Given the description of an element on the screen output the (x, y) to click on. 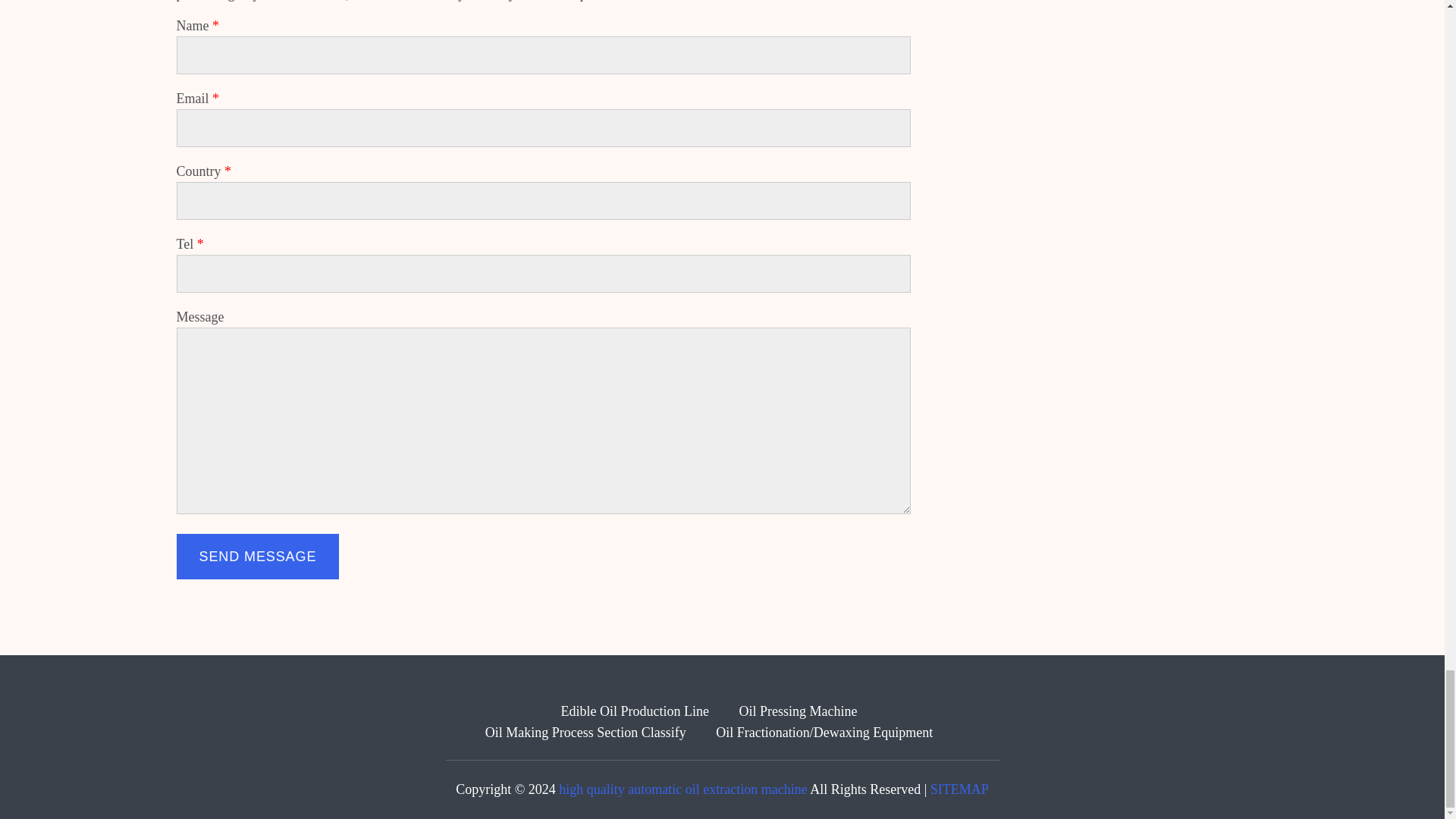
Send Message (257, 556)
